Given the description of an element on the screen output the (x, y) to click on. 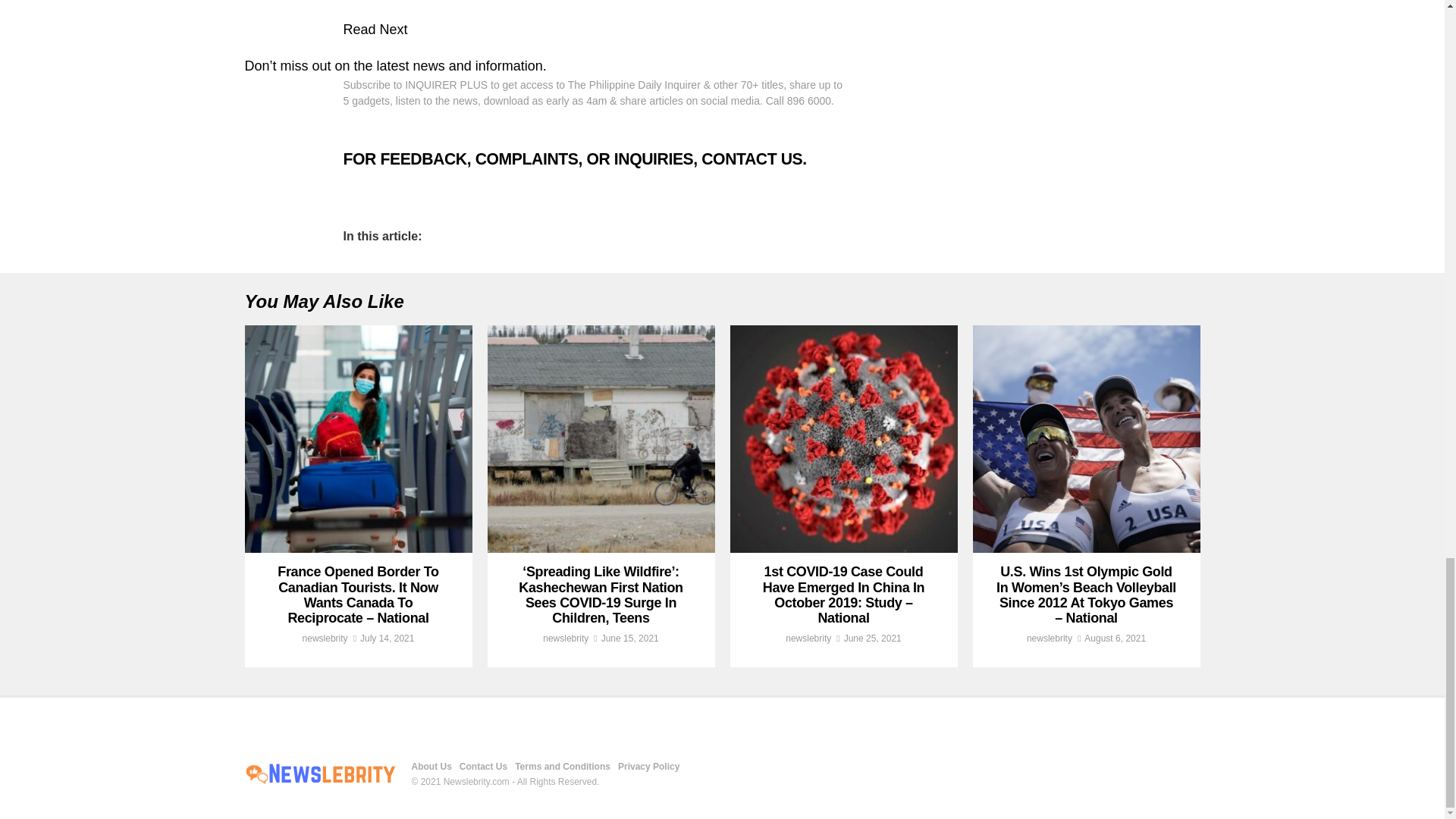
Posts by newslebrity (565, 638)
Posts by newslebrity (1048, 638)
Posts by newslebrity (808, 638)
Posts by newslebrity (324, 638)
